Given the description of an element on the screen output the (x, y) to click on. 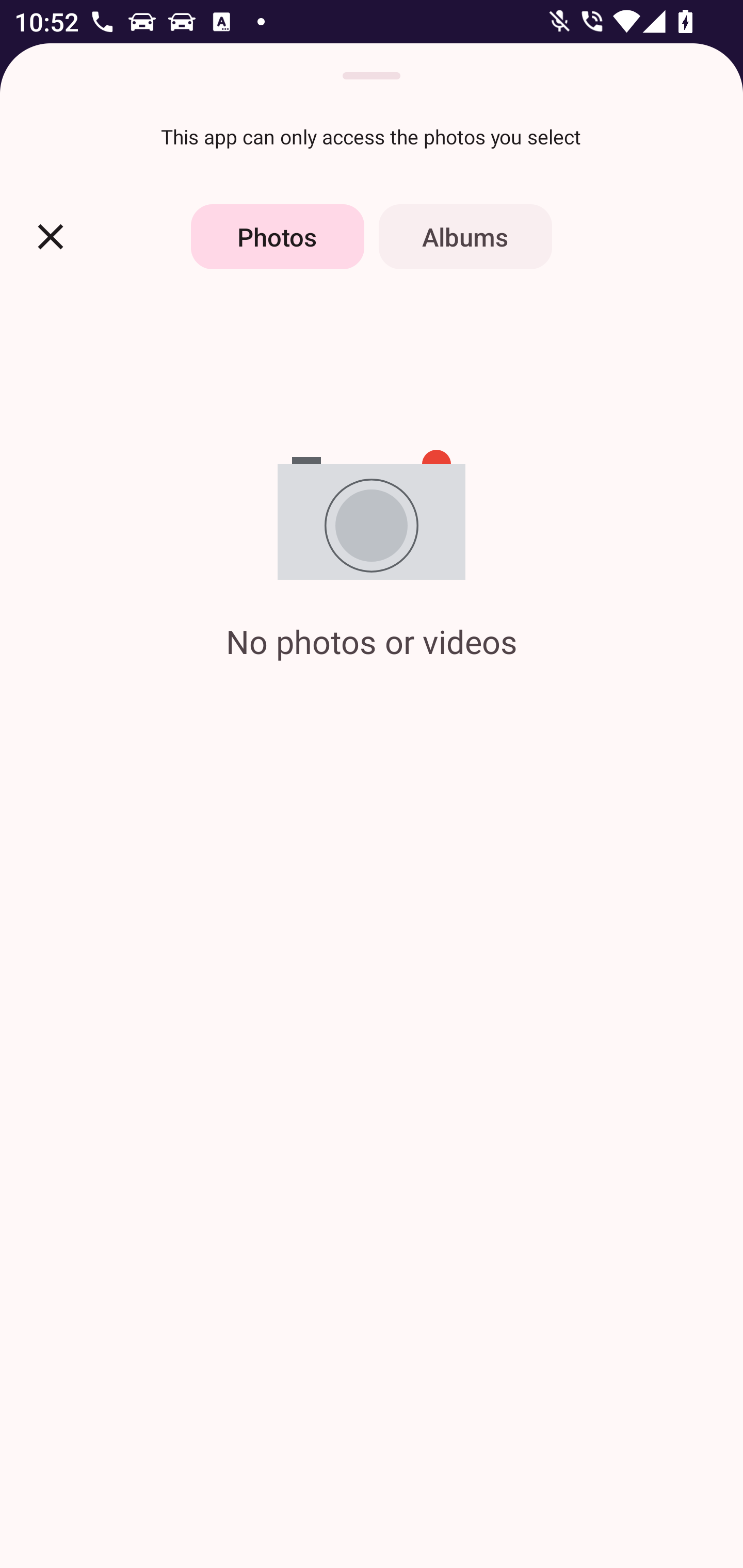
Cancel (50, 236)
Albums (465, 236)
